Given the description of an element on the screen output the (x, y) to click on. 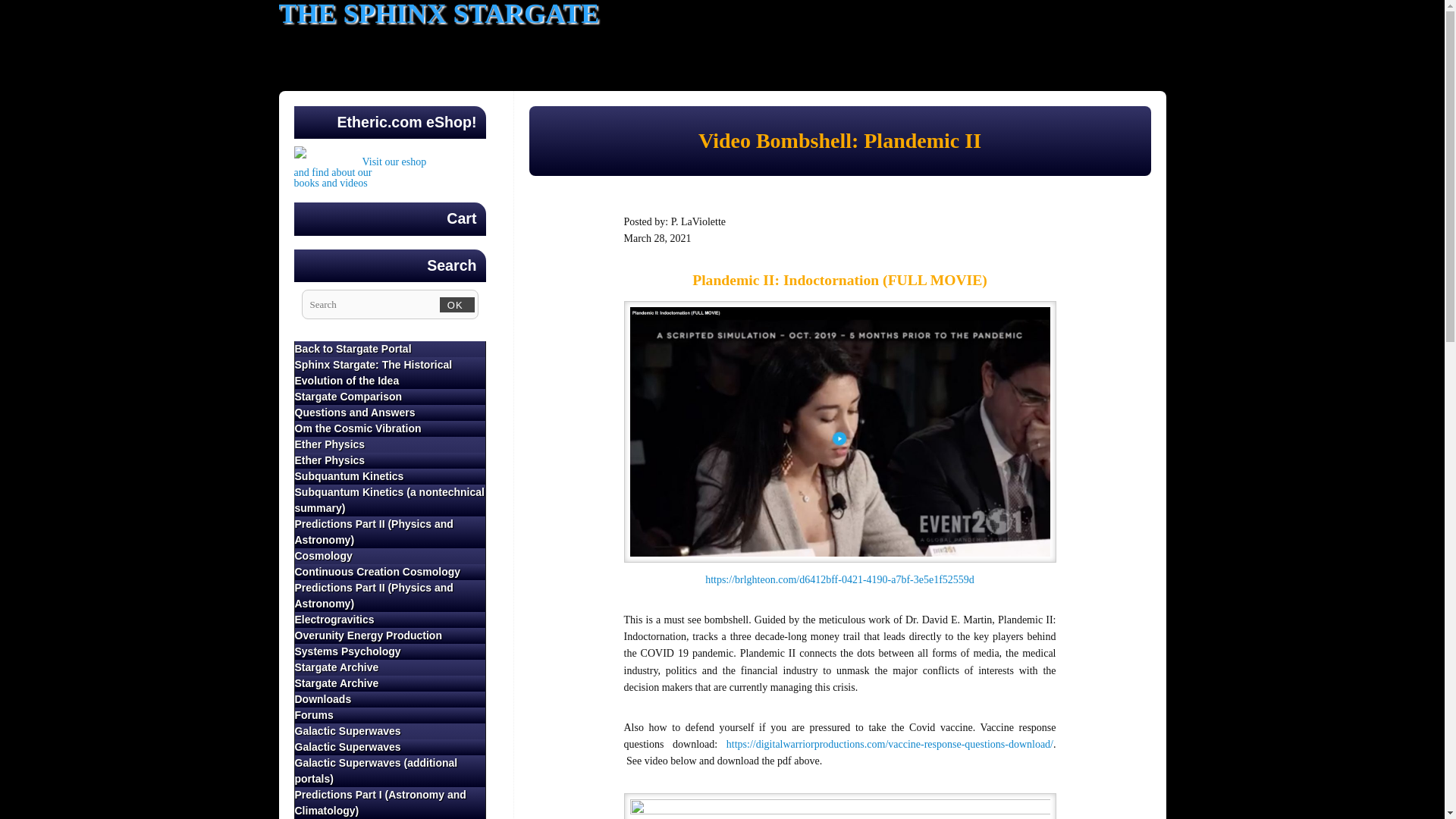
Galactic Superwaves (390, 731)
Continuous Creation Cosmology (390, 571)
Electrogravitics (390, 619)
Downloads (390, 699)
Om the Cosmic Vibration (390, 428)
Subquantum Kinetics (390, 476)
Forums (390, 715)
Sphinx Stargate: The Historical Evolution of the Idea (390, 373)
Galactic Superwaves (390, 747)
Stargate Archive (390, 667)
Overunity Energy Production (390, 635)
Back to Stargate Portal (360, 177)
Stargate Comparison (390, 349)
Ether Physics (390, 396)
